Given the description of an element on the screen output the (x, y) to click on. 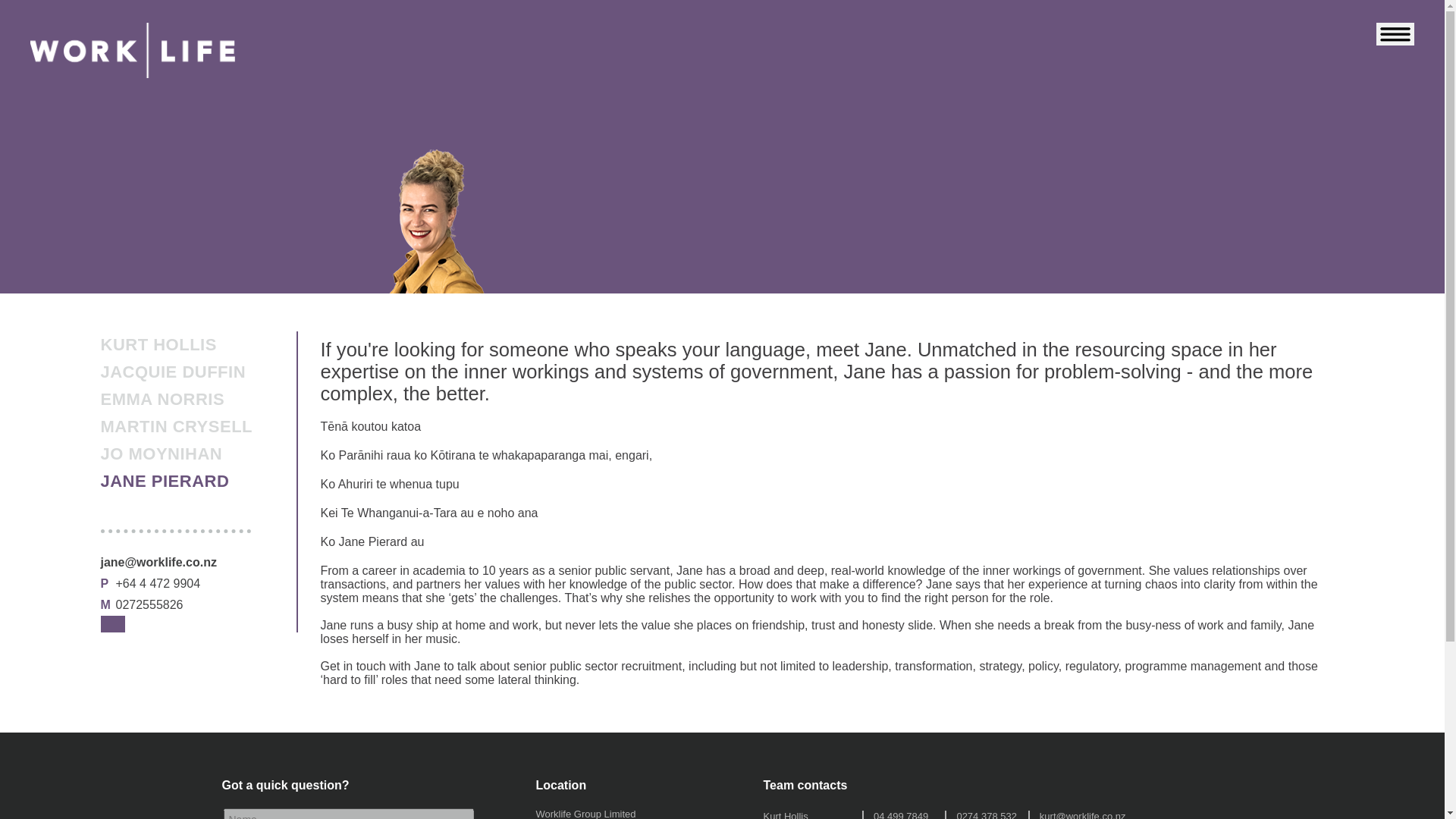
JANE PIERARD (164, 481)
M0272555826 (141, 604)
KURT HOLLIS (157, 344)
MARTIN CRYSELL (175, 426)
JO MOYNIHAN (161, 453)
EMMA NORRIS (162, 399)
JACQUIE DUFFIN (173, 371)
0274 378 532 (986, 814)
04 499 7849 (900, 814)
